Given the description of an element on the screen output the (x, y) to click on. 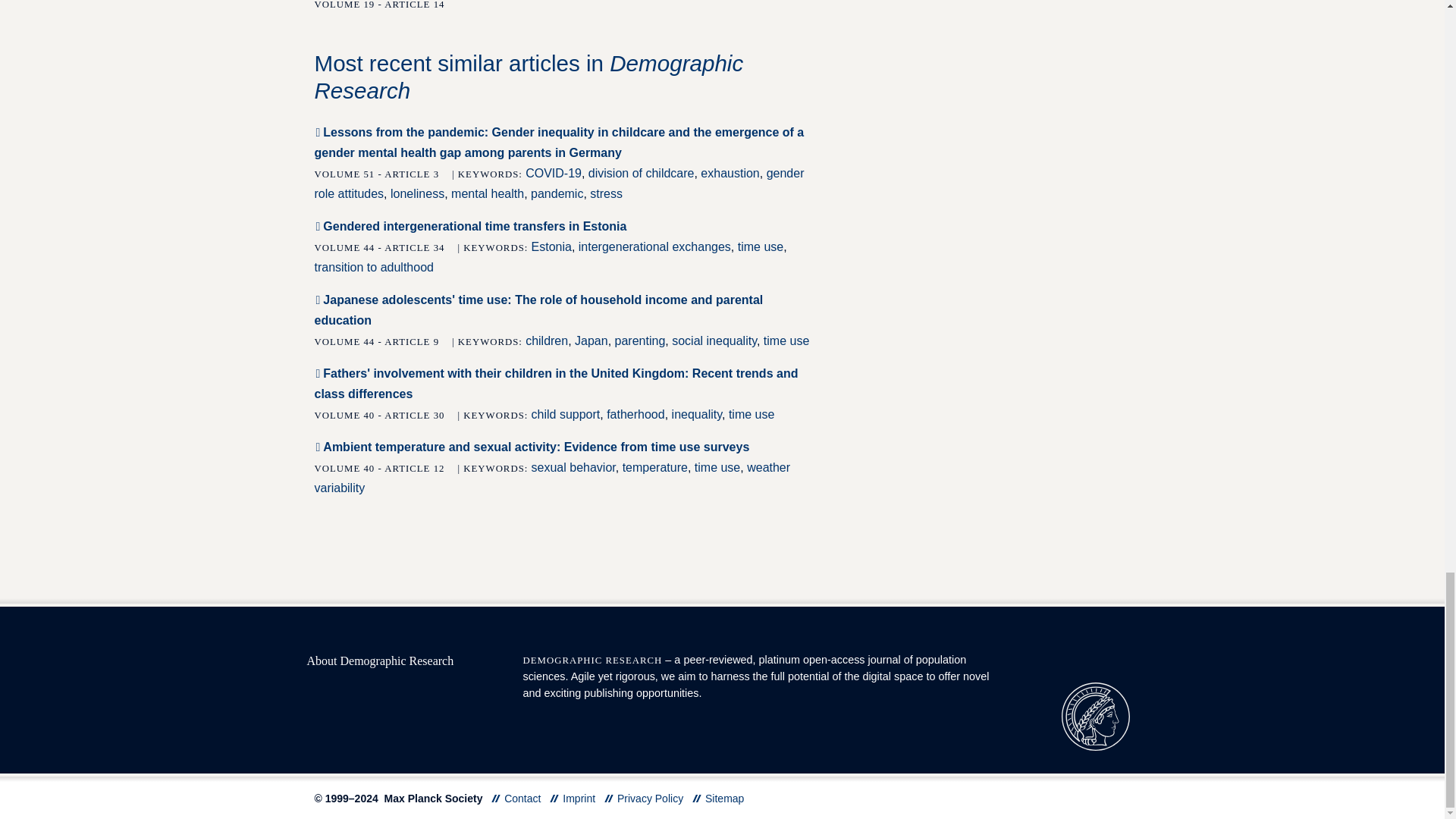
separator (697, 798)
separator (554, 798)
Max Planck Society (1095, 716)
separator (608, 798)
Max Planck Society (1095, 716)
separator (496, 798)
